Given the description of an element on the screen output the (x, y) to click on. 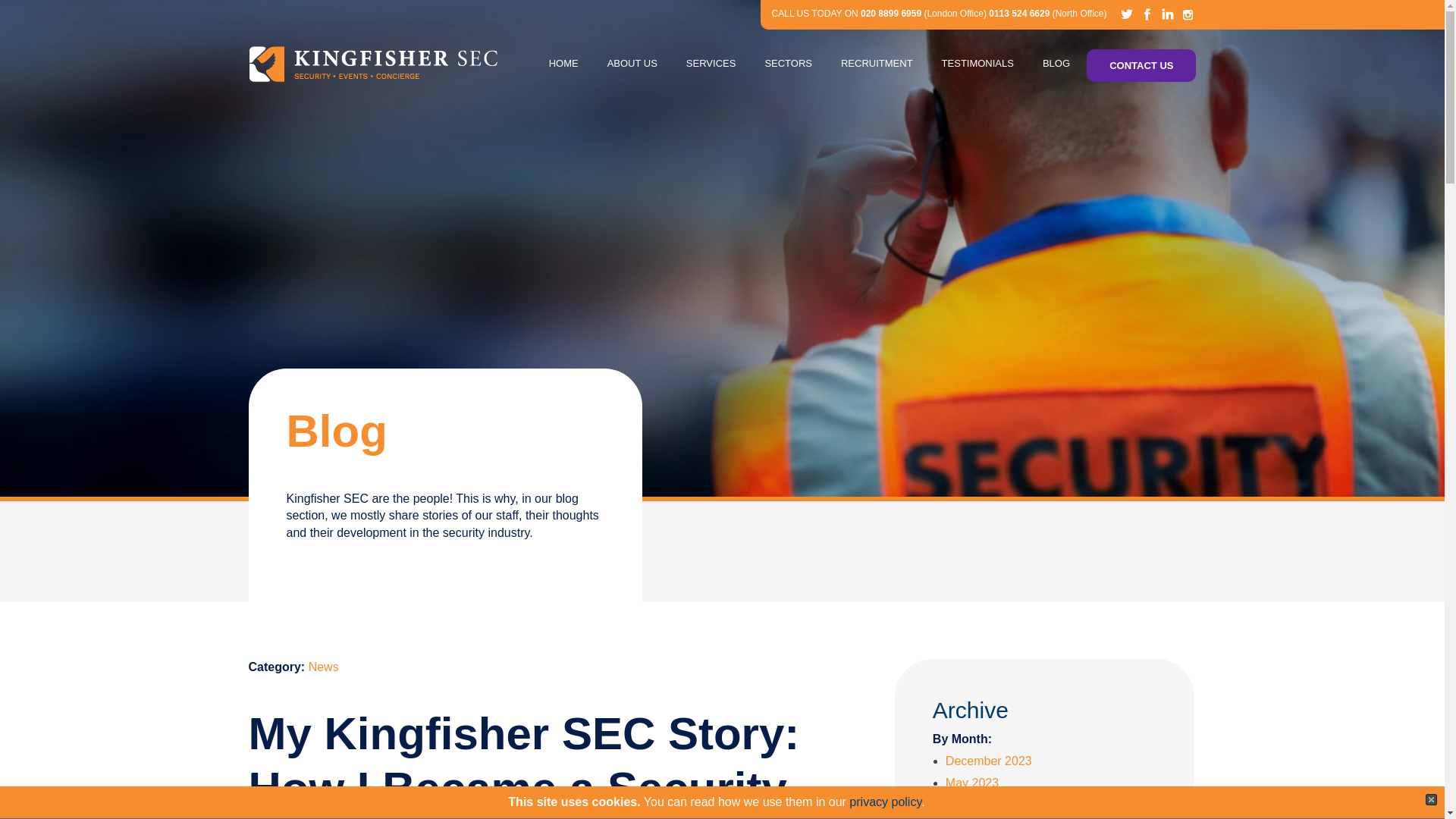
SECTORS (788, 63)
BLOG (1055, 63)
020 8899 6959 (890, 13)
RECRUITMENT (876, 63)
SERVICES (711, 63)
April 2023 (972, 805)
Go to the home page (372, 63)
News (323, 666)
0113 524 6629 (1018, 13)
December 2023 (988, 760)
privacy policy (884, 801)
ABOUT US (632, 63)
May 2023 (971, 782)
CONTACT US (1140, 65)
HOME (564, 63)
